Given the description of an element on the screen output the (x, y) to click on. 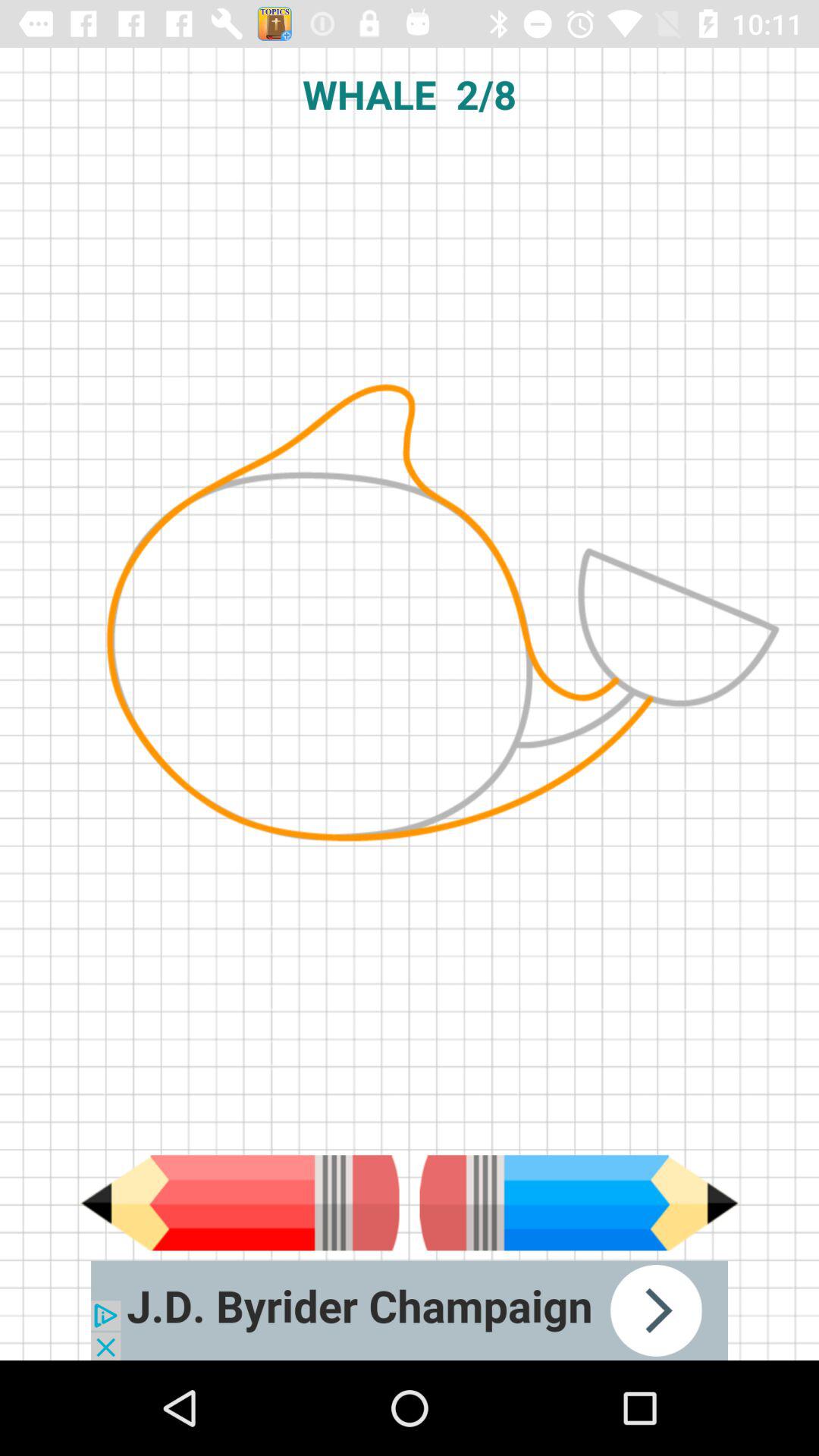
j.d byrider champaign add (409, 1310)
